Given the description of an element on the screen output the (x, y) to click on. 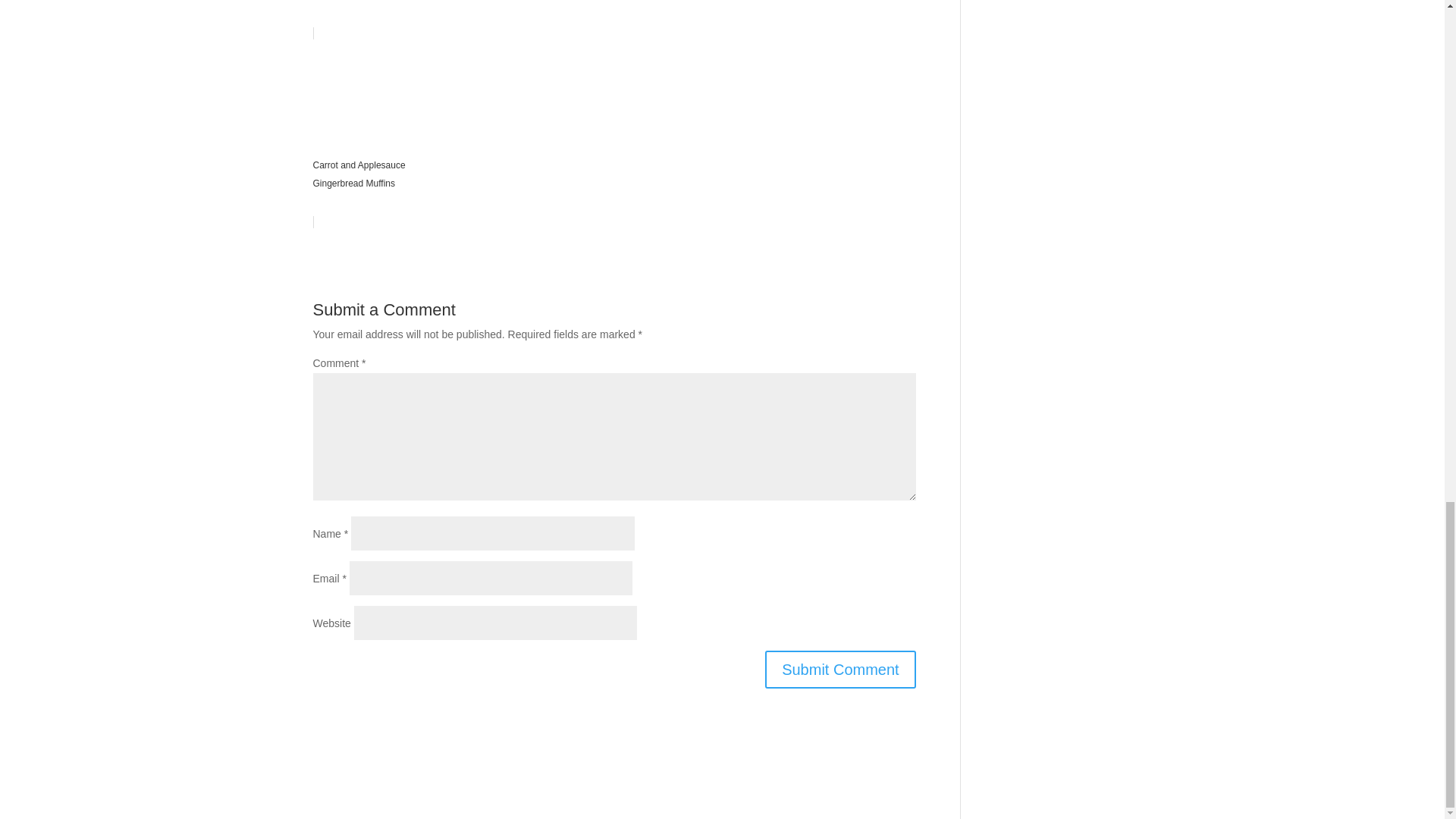
Paleo Naan Bread (614, 20)
Carrot and Applesauce Gingerbread Muffins (614, 127)
Submit Comment (840, 669)
Submit Comment (840, 669)
